Given the description of an element on the screen output the (x, y) to click on. 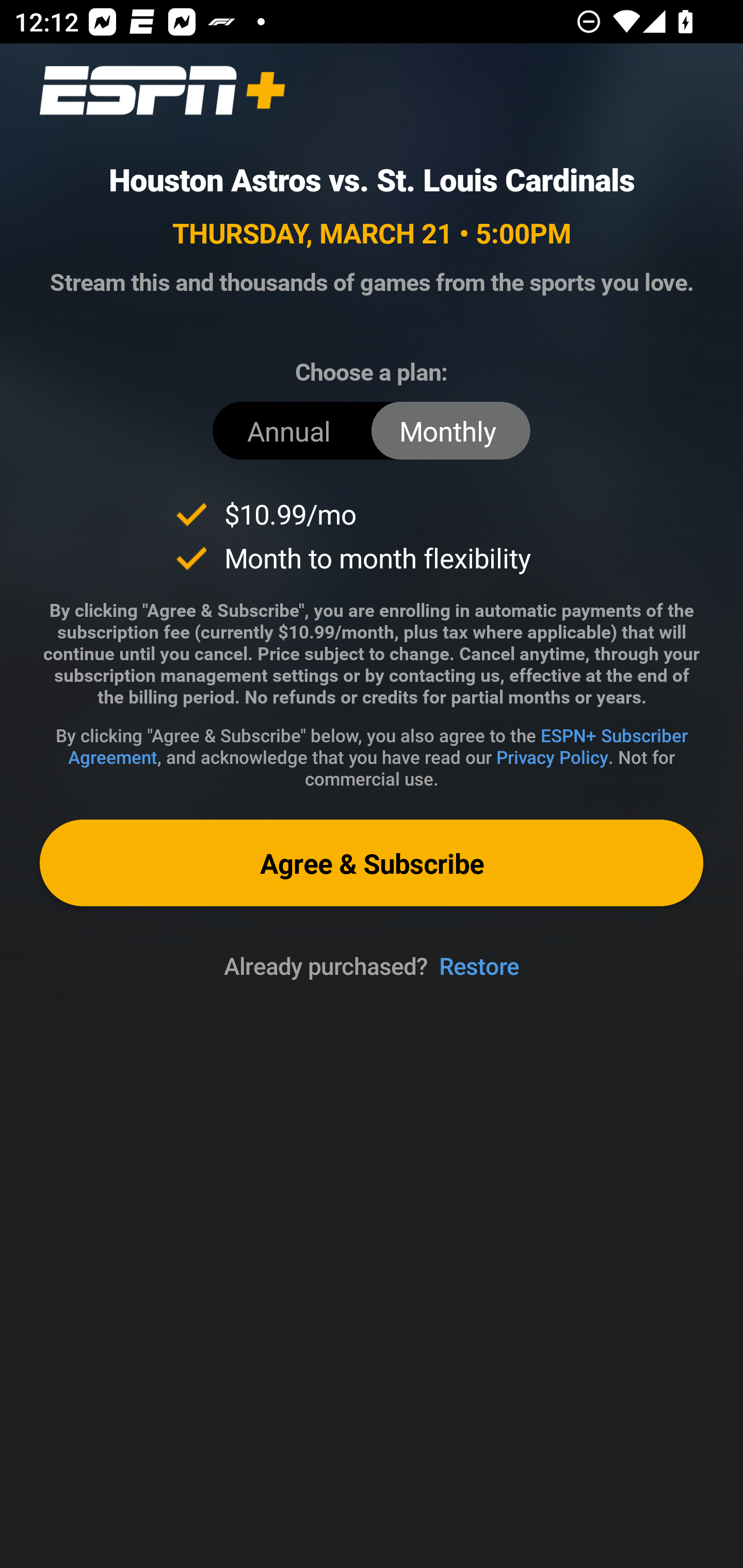
Agree & Subscribe (371, 863)
